Given the description of an element on the screen output the (x, y) to click on. 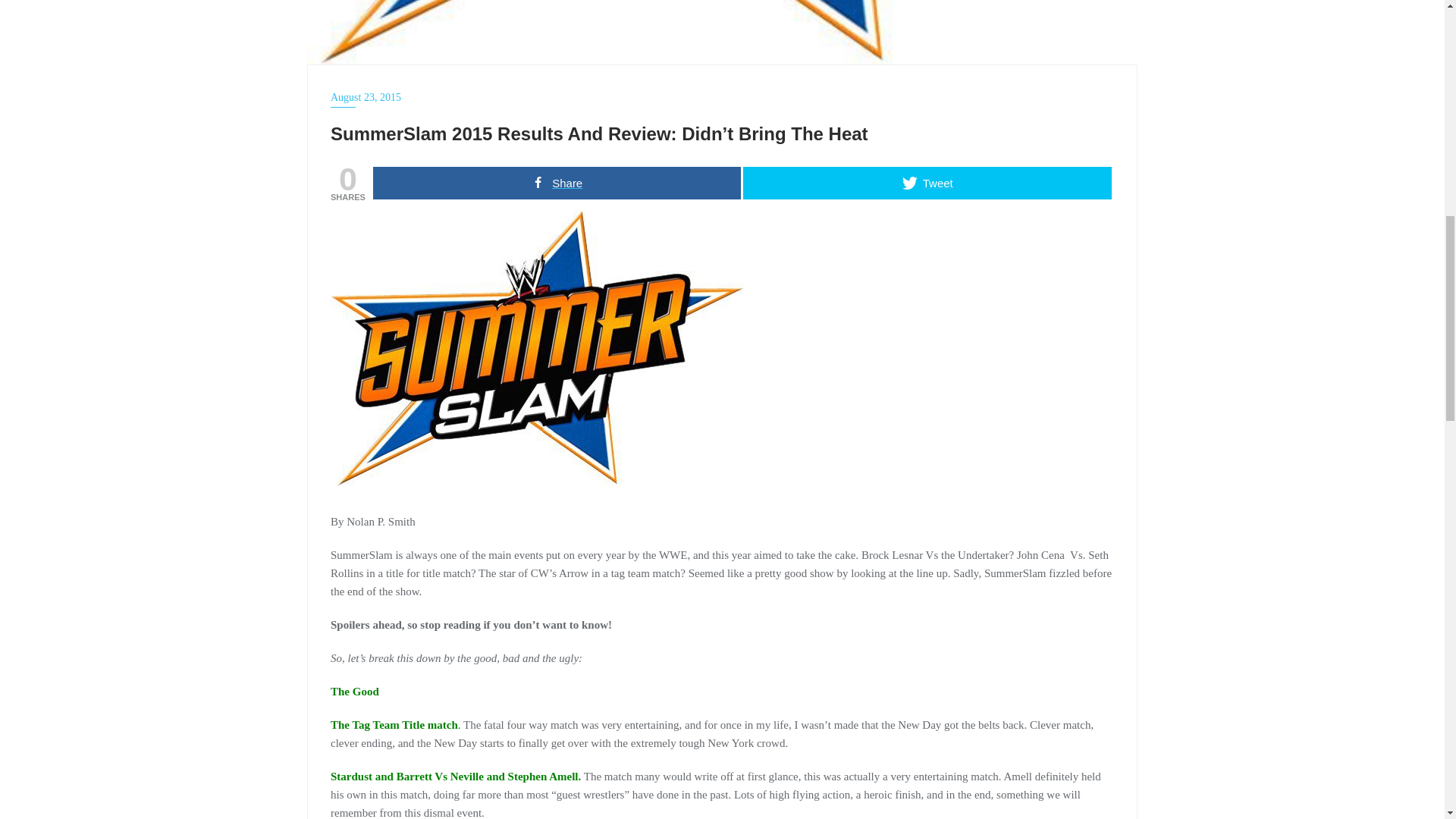
Share (556, 183)
Tweet (927, 183)
August 23, 2015 (721, 97)
